Given the description of an element on the screen output the (x, y) to click on. 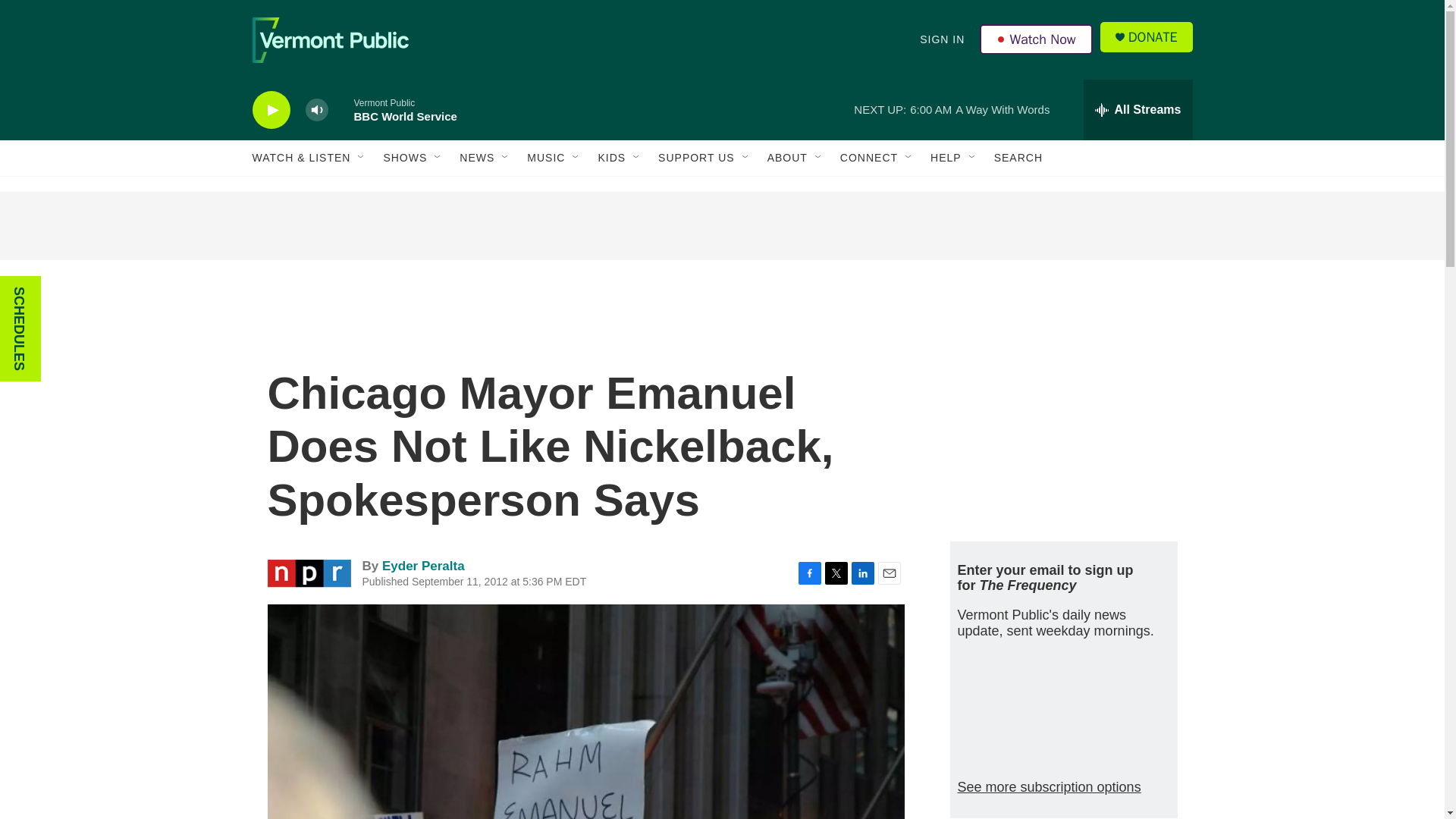
3rd party ad content (721, 225)
3rd party ad content (1062, 416)
